Given the description of an element on the screen output the (x, y) to click on. 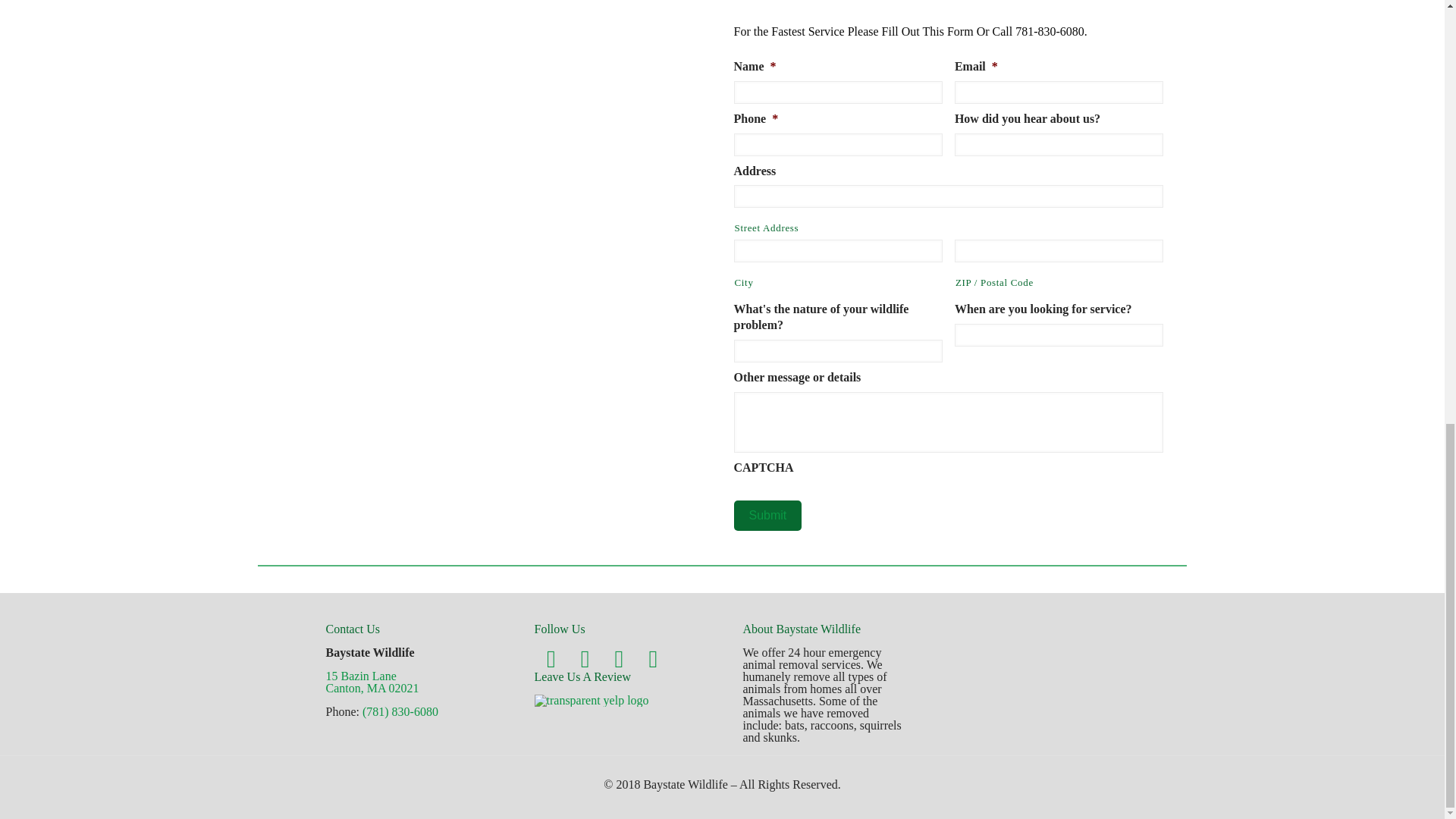
Twitter (584, 658)
Submit (372, 681)
Submit (767, 515)
Pinterest (767, 515)
Facebook (619, 658)
RSS (550, 658)
